Given the description of an element on the screen output the (x, y) to click on. 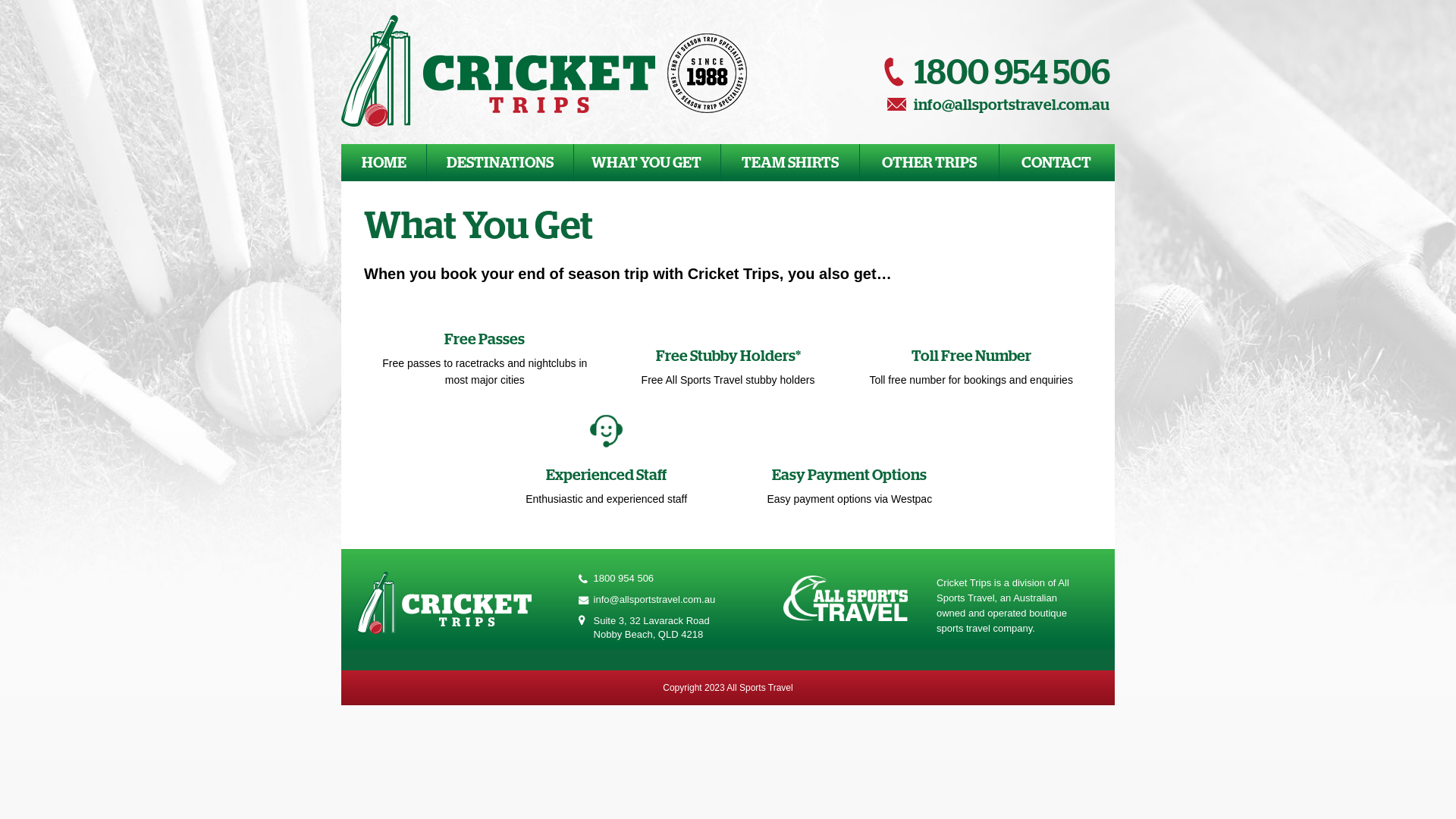
OTHER TRIPS Element type: text (928, 162)
1800 954 506 Element type: text (997, 73)
info@allsportstravel.com.au Element type: text (996, 104)
HOME Element type: text (383, 162)
TEAM SHIRTS Element type: text (789, 162)
info@allsportstravel.com.au Element type: text (654, 599)
CONTACT Element type: text (1056, 162)
WHAT YOU GET Element type: text (646, 162)
DESTINATIONS Element type: text (499, 162)
